Given the description of an element on the screen output the (x, y) to click on. 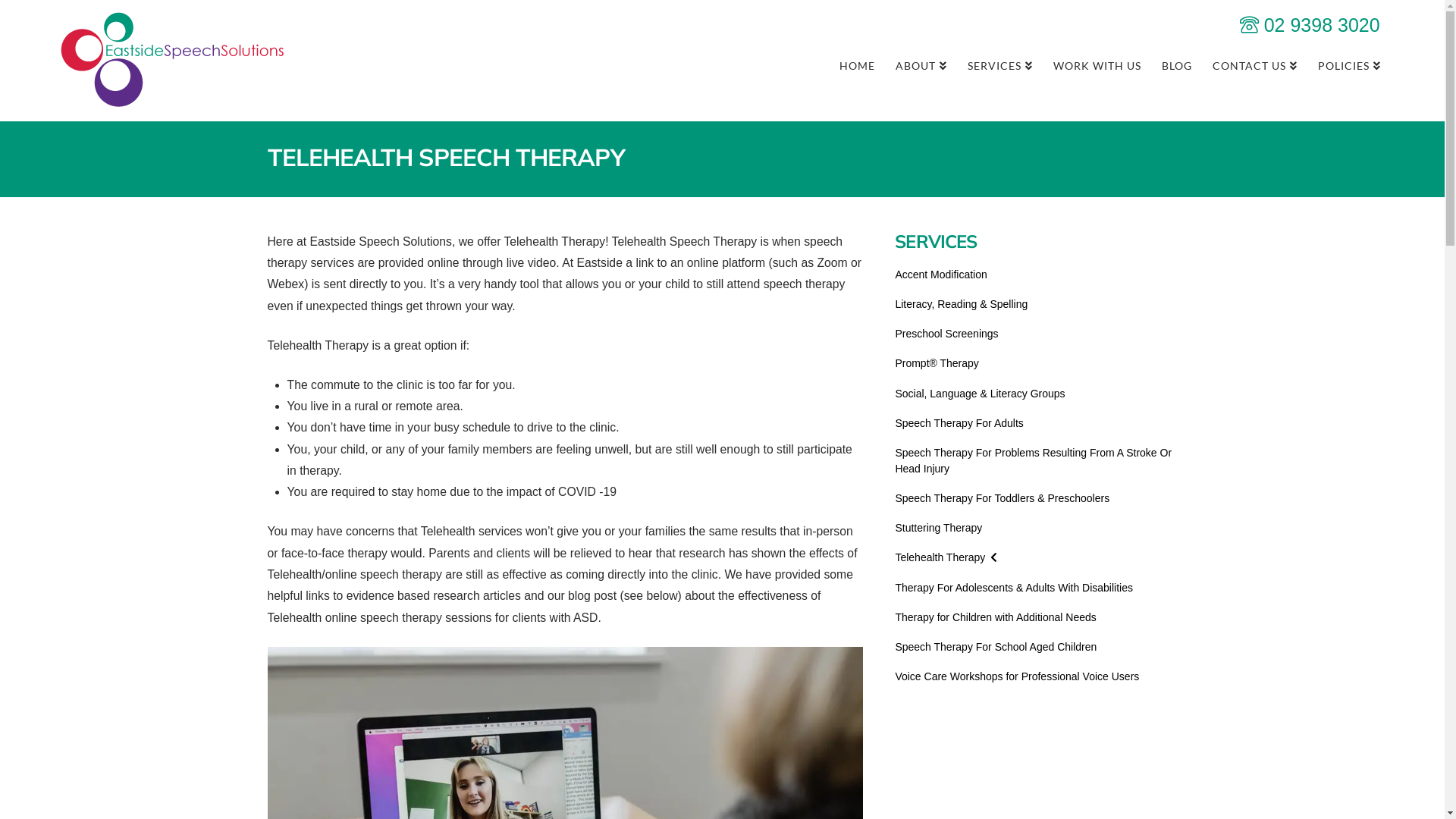
SERVICES Element type: text (999, 64)
HOME Element type: text (856, 64)
Speech Therapy For Toddlers & Preschoolers Element type: text (1001, 498)
Speech Therapy For Adults Element type: text (958, 423)
ABOUT Element type: text (920, 64)
Therapy For Adolescents & Adults With Disabilities Element type: text (1013, 588)
Accent Modification Element type: text (940, 274)
Preschool Screenings Element type: text (945, 334)
WORK WITH US Element type: text (1096, 64)
Stuttering Therapy Element type: text (938, 528)
Voice Care Workshops for Professional Voice Users Element type: text (1016, 676)
Therapy for Children with Additional Needs Element type: text (994, 617)
02 9398 3020 Element type: text (1309, 24)
Speech Therapy For School Aged Children Element type: text (995, 647)
POLICIES Element type: text (1348, 64)
CONTACT US Element type: text (1254, 64)
Telehealth Therapy Element type: text (945, 557)
BLOG Element type: text (1176, 64)
Social, Language & Literacy Groups Element type: text (979, 393)
Literacy, Reading & Spelling Element type: text (960, 304)
